Given the description of an element on the screen output the (x, y) to click on. 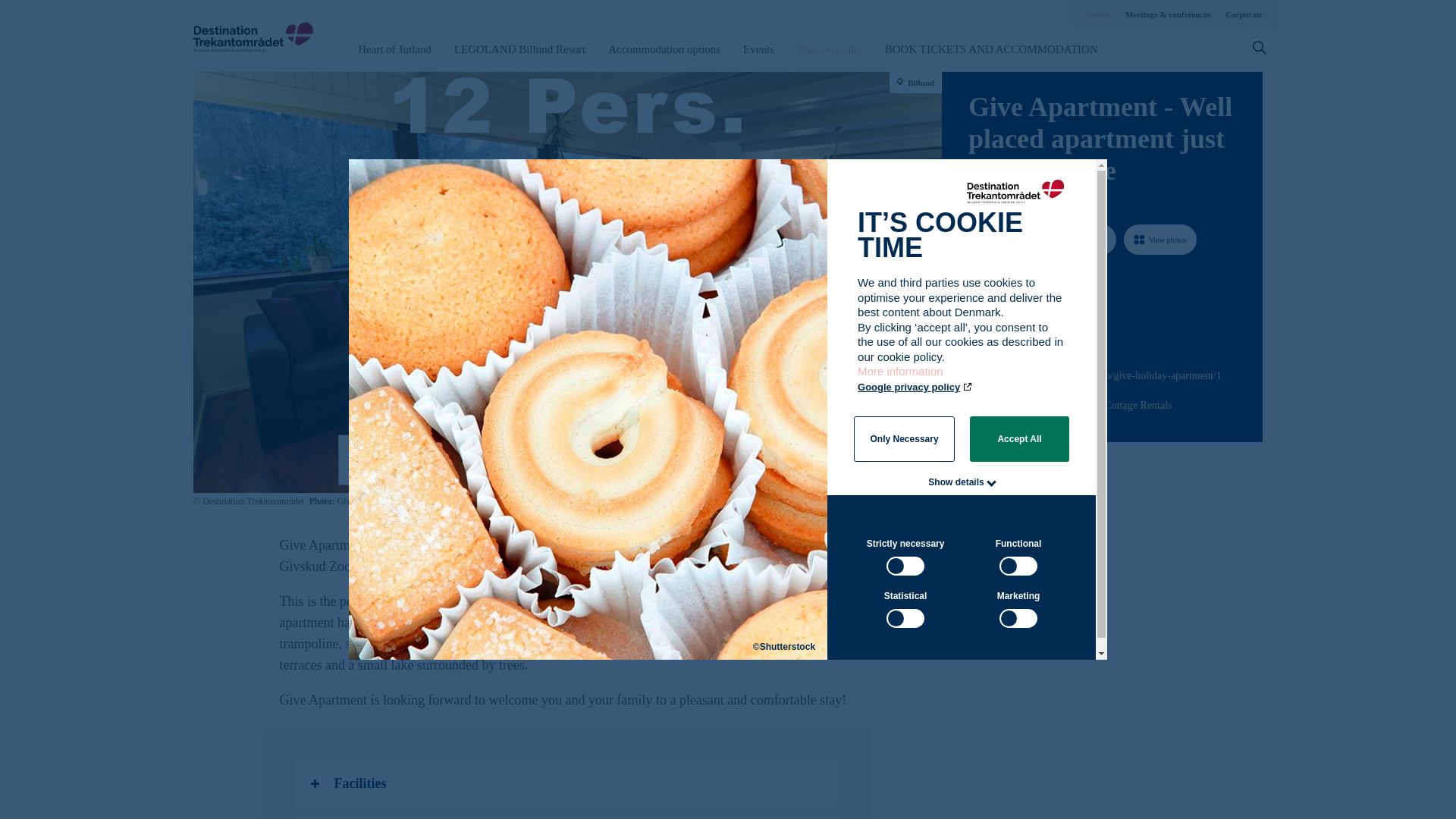
Google privacy policy (915, 387)
Only Necessary (904, 438)
Accept All (1018, 438)
More information (900, 378)
Show details (956, 481)
Path (973, 374)
